Given the description of an element on the screen output the (x, y) to click on. 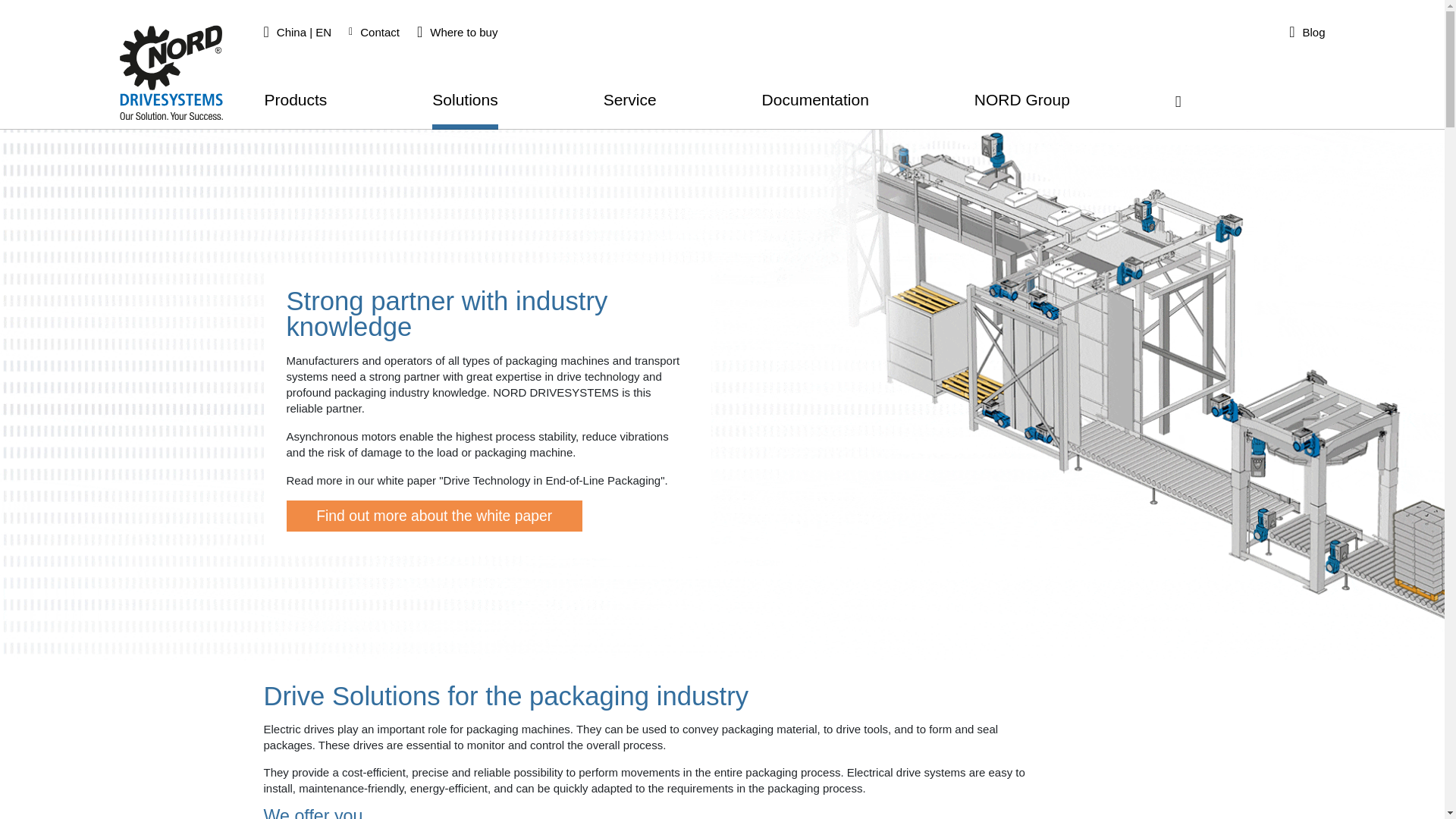
Contact (376, 32)
Blog (1309, 32)
Blog (1309, 32)
Where to buy (459, 32)
Products (294, 105)
Language Select (300, 32)
NORD Drivesystems (170, 72)
NORD Home (170, 72)
